Given the description of an element on the screen output the (x, y) to click on. 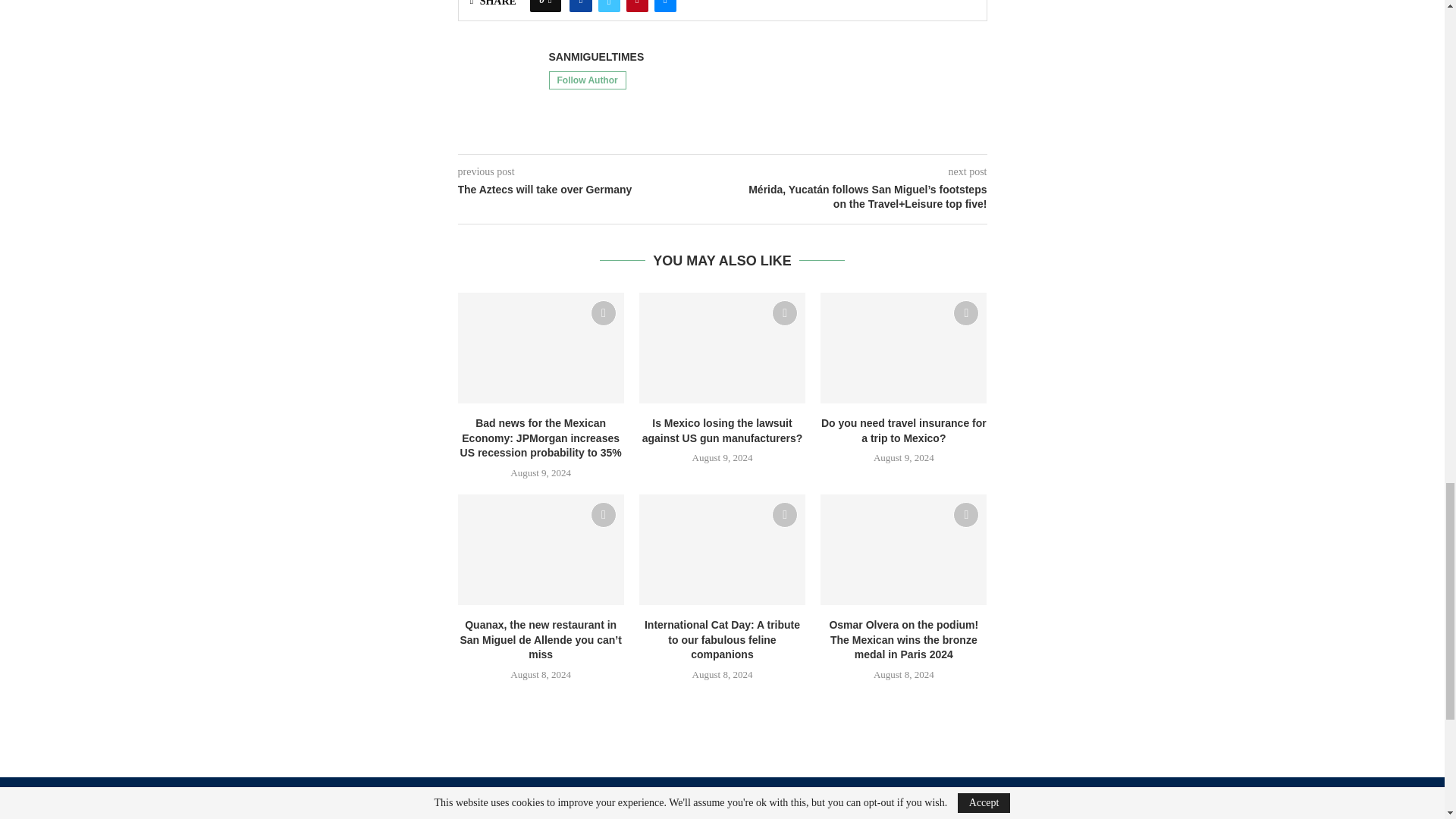
Is Mexico losing the lawsuit against US gun manufacturers? (722, 347)
Author sanmigueltimes (596, 56)
Do you need travel insurance for a trip to Mexico? (904, 347)
